Given the description of an element on the screen output the (x, y) to click on. 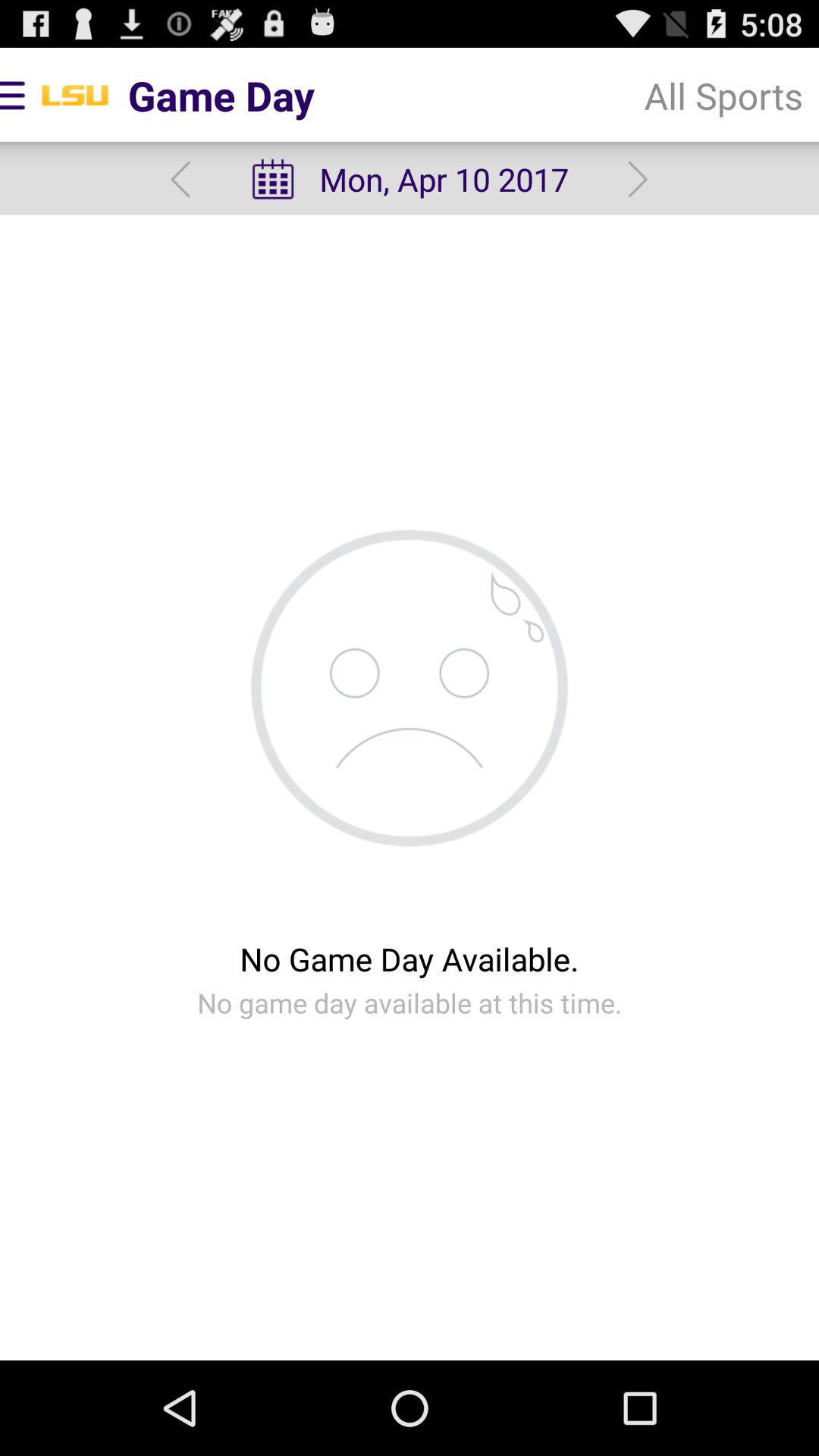
choose icon below game day item (180, 178)
